Given the description of an element on the screen output the (x, y) to click on. 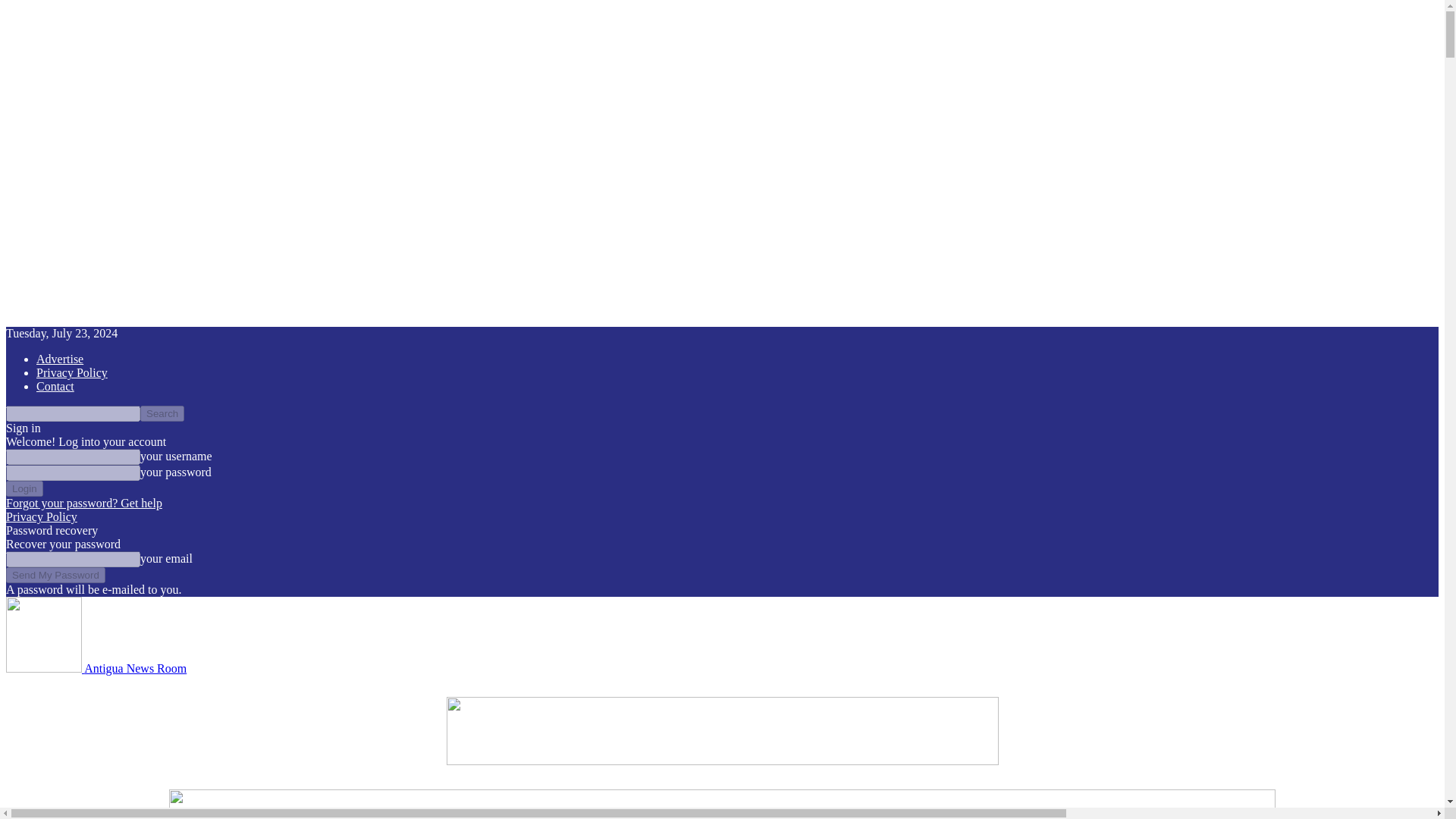
Advertise (59, 358)
Forgot your password? Get help (83, 502)
Antigua News Room (95, 667)
Search (161, 413)
Search (161, 413)
Login (24, 488)
Contact (55, 386)
Privacy Policy (41, 516)
Send My Password (54, 575)
Privacy Policy (71, 372)
